Given the description of an element on the screen output the (x, y) to click on. 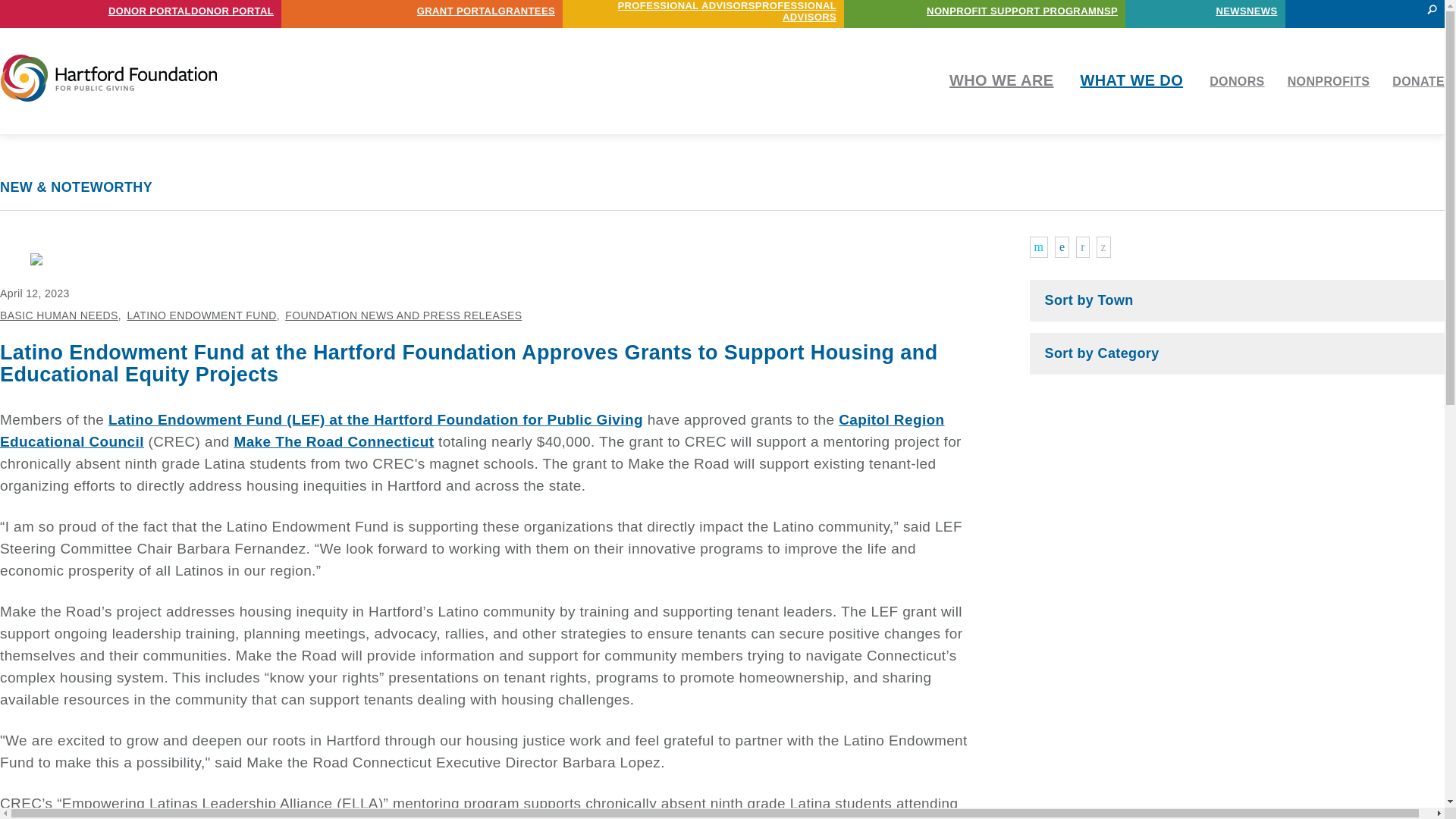
WHO WE ARE (1001, 80)
PROFESSIONAL ADVISORSPROFESSIONAL ADVISORS (702, 11)
DONATE (1417, 81)
NEWSNEWS (1245, 10)
DONOR PORTALDONOR PORTAL (190, 10)
WHAT WE DO (1131, 80)
NONPROFIT SUPPORT PROGRAMNSP (1022, 10)
GRANT PORTALGRANTEES (485, 10)
DONORS (1237, 81)
NONPROFITS (1328, 81)
